Given the description of an element on the screen output the (x, y) to click on. 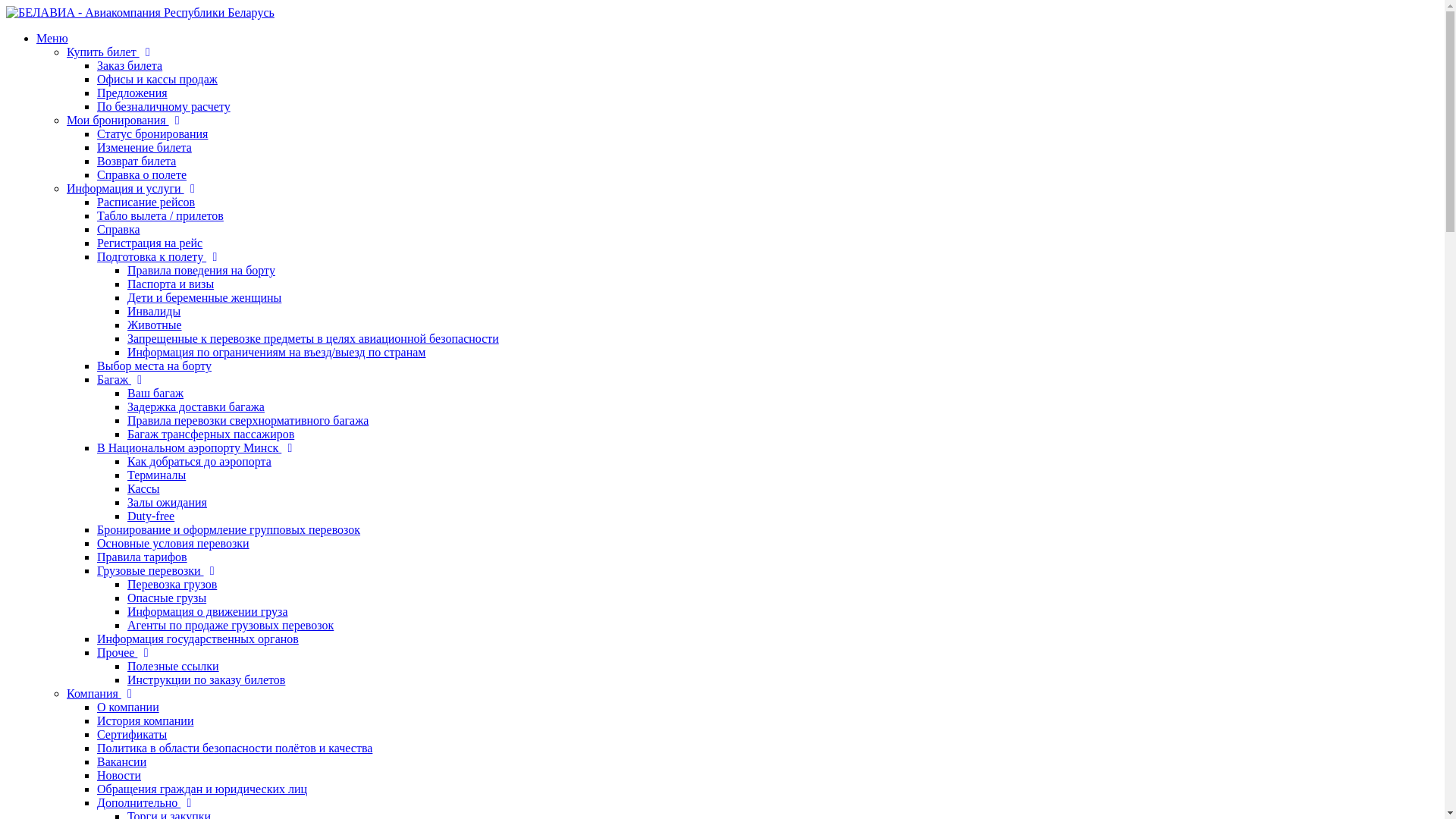
Duty-free Element type: text (150, 515)
